Given the description of an element on the screen output the (x, y) to click on. 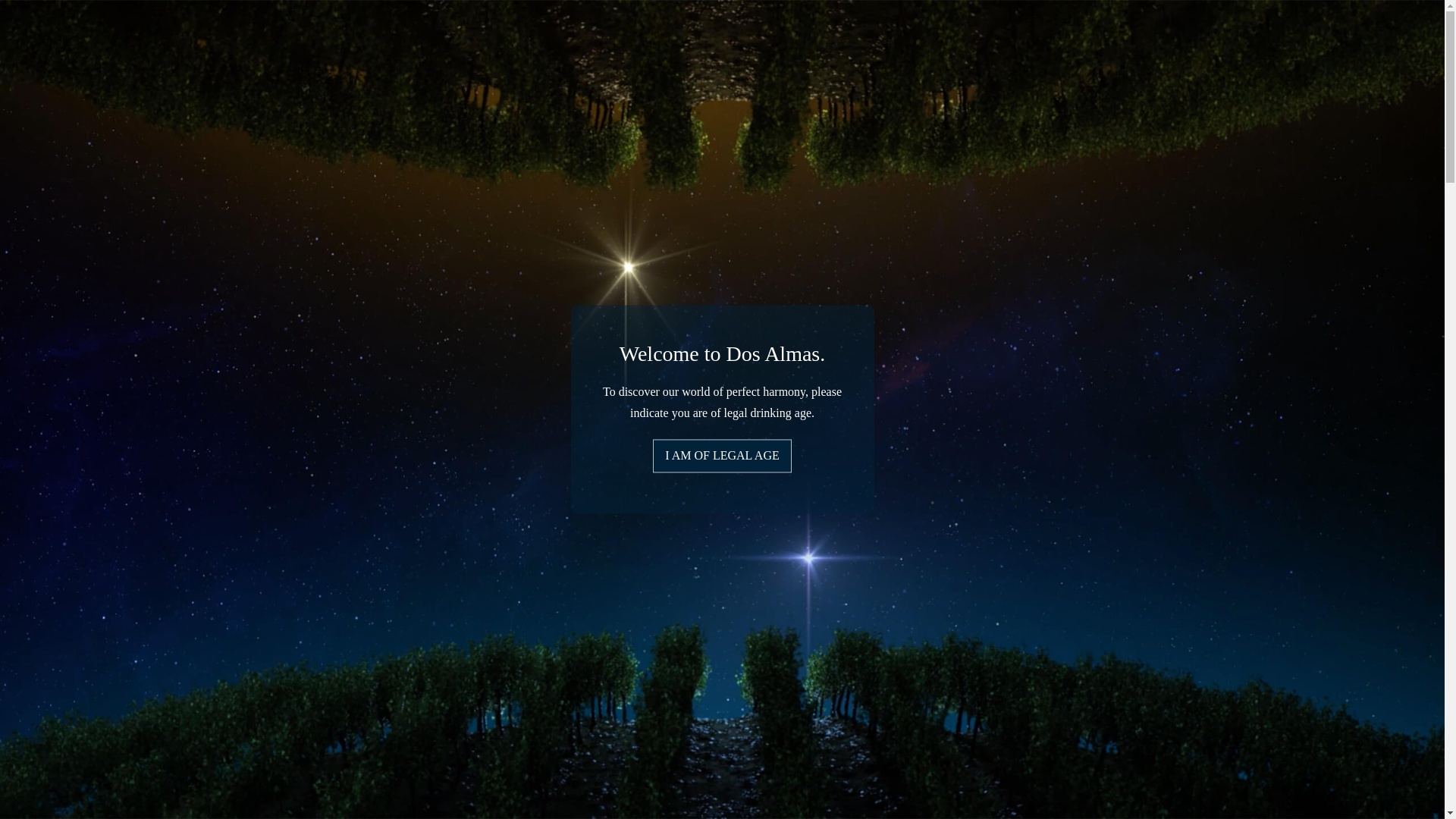
Contact (951, 41)
History (449, 41)
Territory (511, 41)
admin (237, 60)
Awards (891, 41)
Wines (570, 41)
Gamble Multihand Black-jack Free of charge Inside Trial Form (122, 173)
March 29, 2024March 29, 2024 (127, 60)
I am of legal age (722, 455)
